Given the description of an element on the screen output the (x, y) to click on. 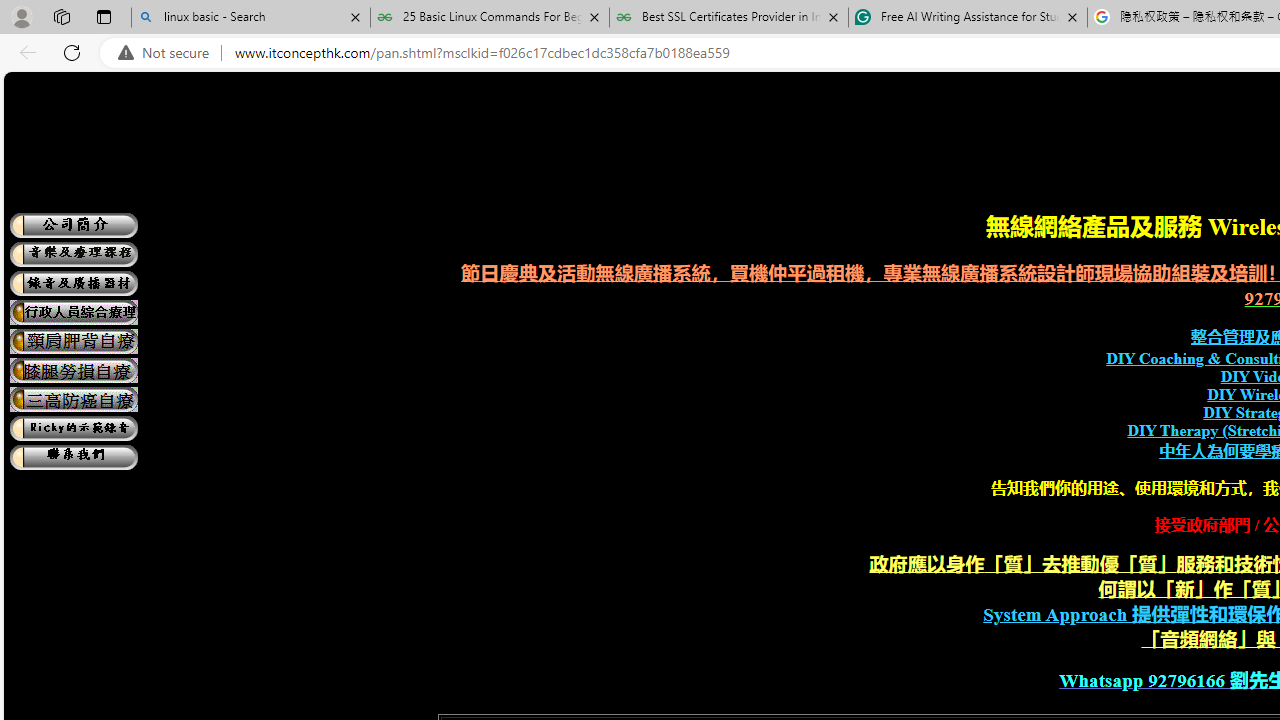
Best SSL Certificates Provider in India - GeeksforGeeks (729, 17)
Not secure (168, 53)
25 Basic Linux Commands For Beginners - GeeksforGeeks (490, 17)
Free AI Writing Assistance for Students | Grammarly (967, 17)
linux basic - Search (250, 17)
